Given the description of an element on the screen output the (x, y) to click on. 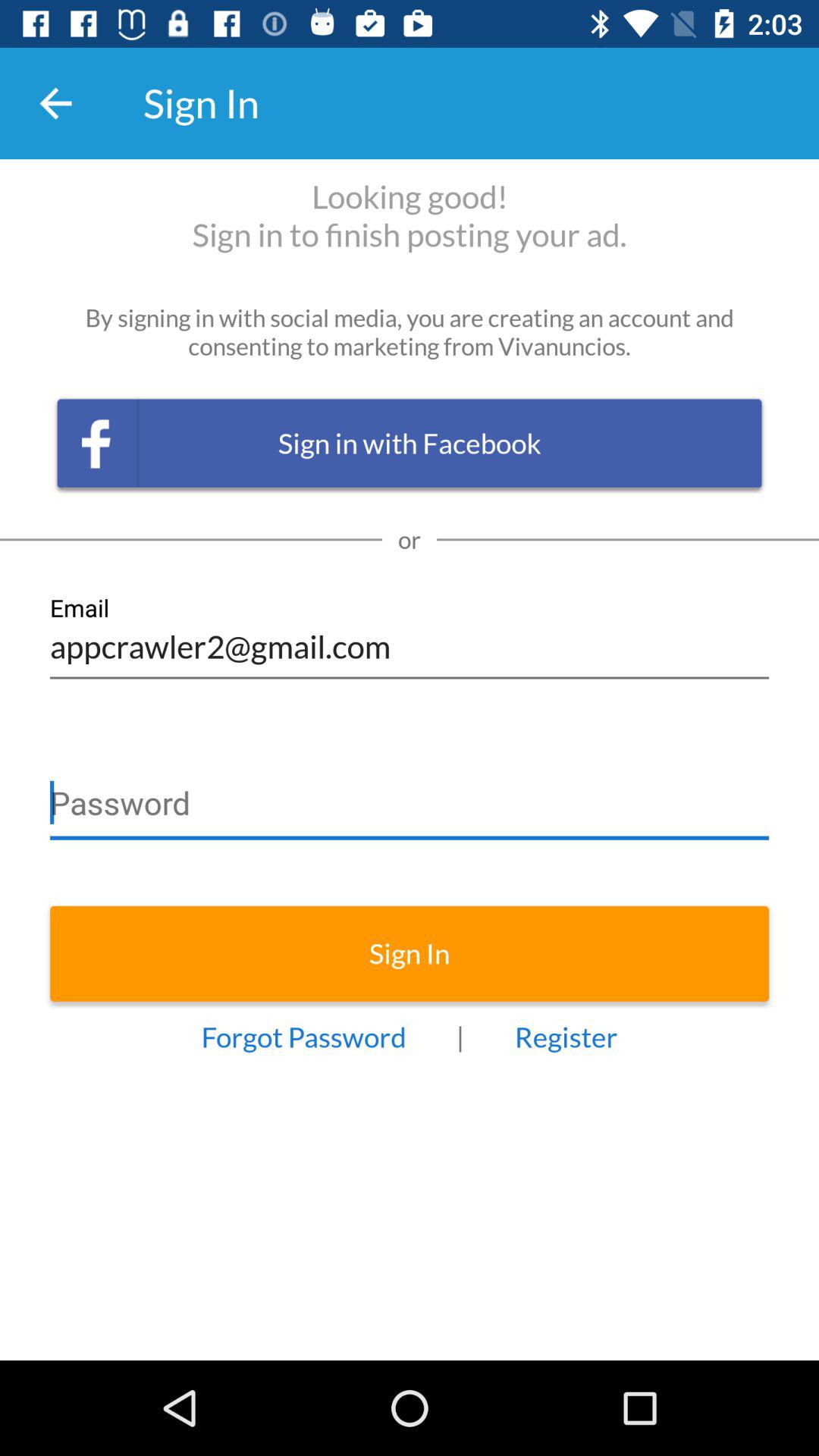
enter password (409, 795)
